Given the description of an element on the screen output the (x, y) to click on. 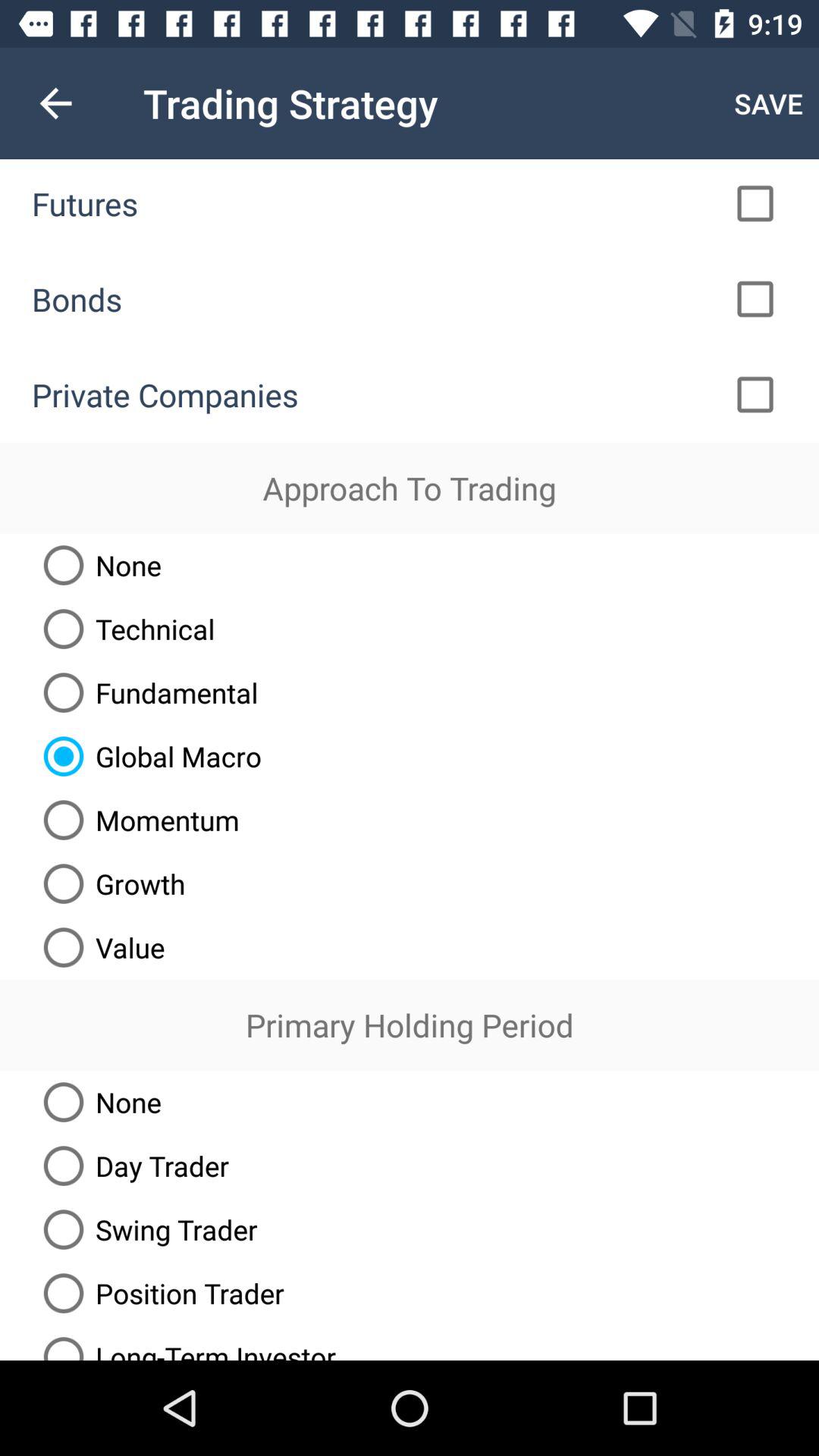
turn on position trader (157, 1293)
